Given the description of an element on the screen output the (x, y) to click on. 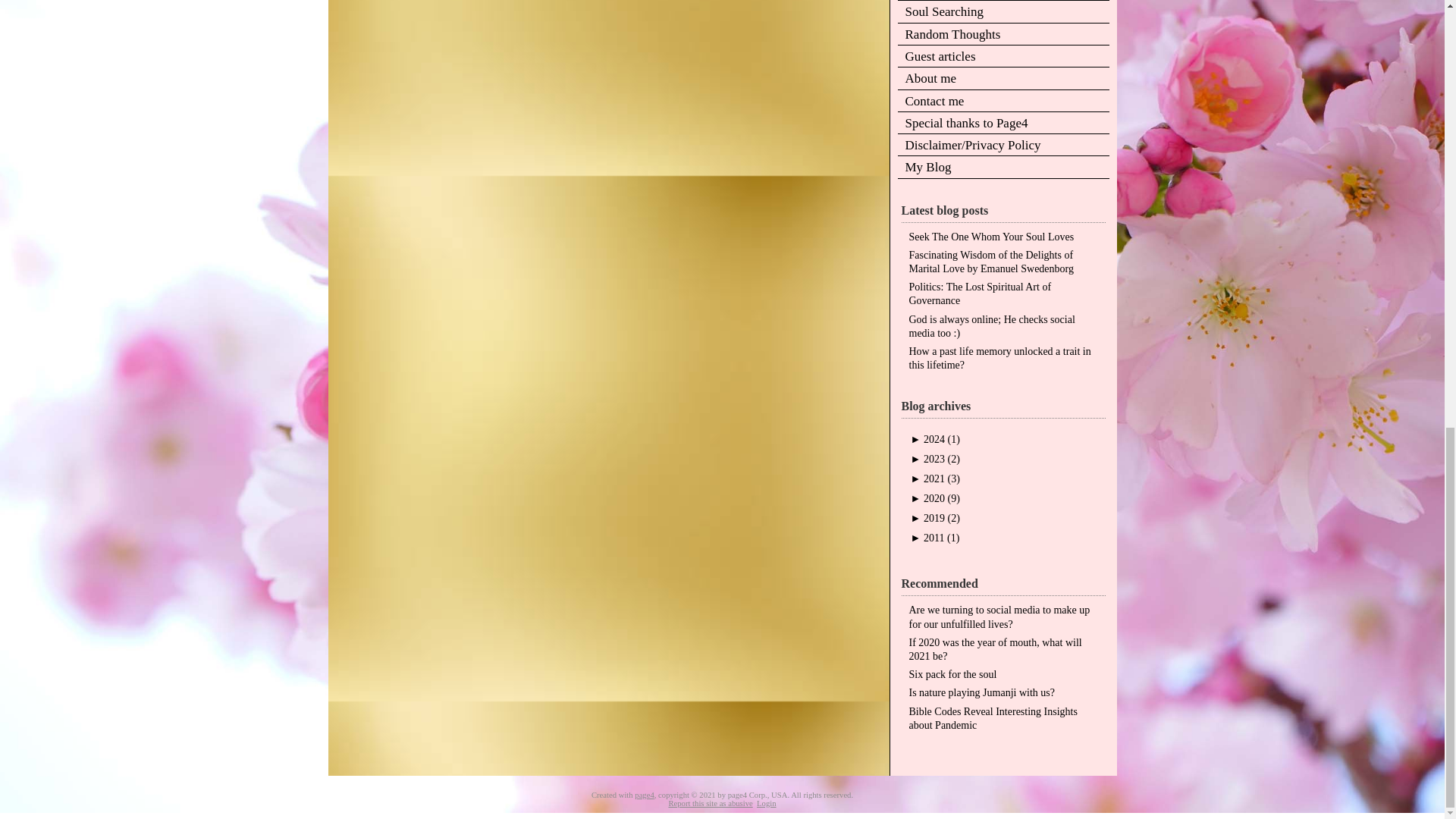
About me (1003, 78)
Contact me (1003, 101)
Random Thoughts (1003, 35)
Special thanks to Page4 (1003, 123)
Guest articles (1003, 56)
Soul Searching (1003, 12)
